Given the description of an element on the screen output the (x, y) to click on. 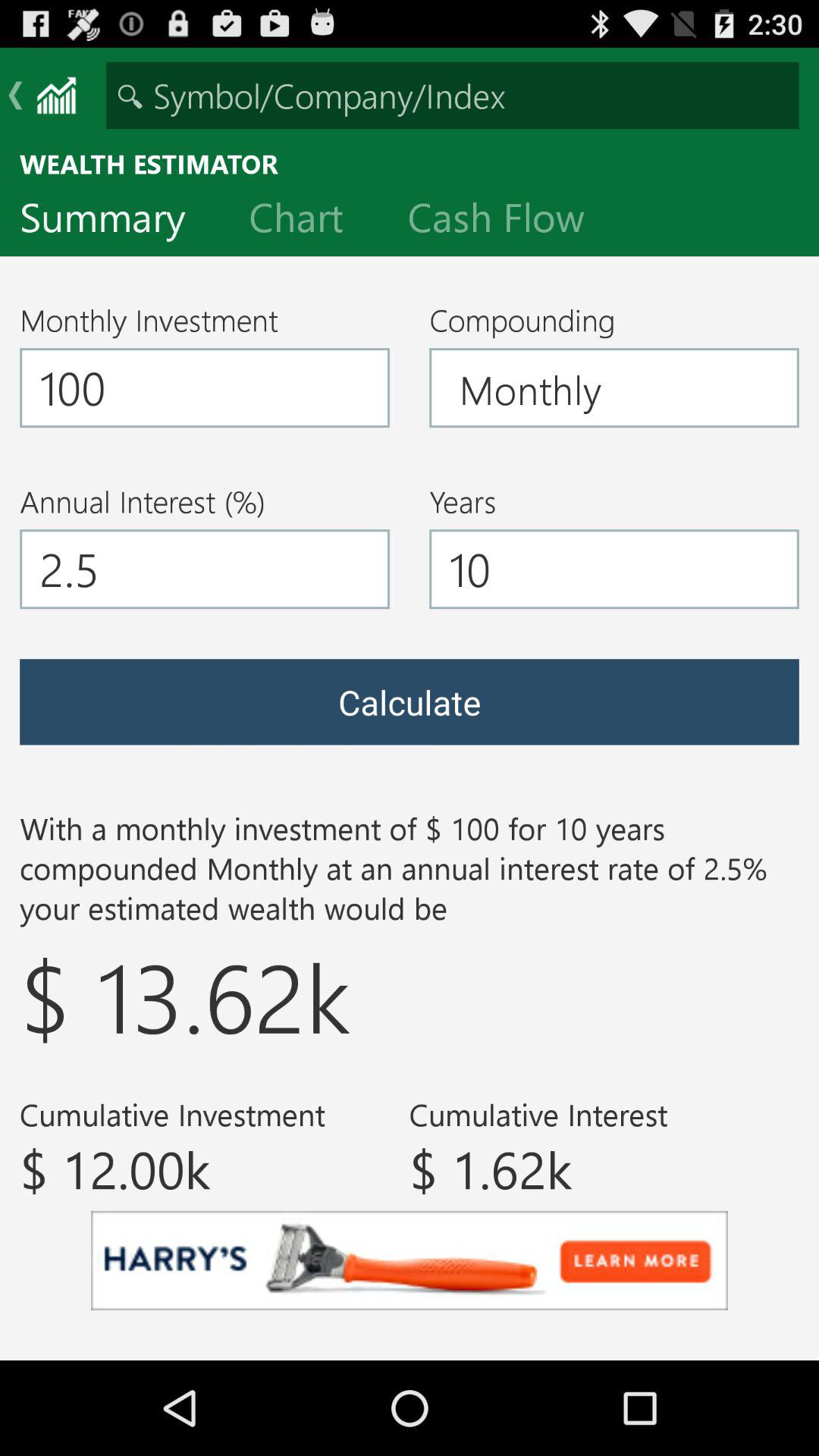
turn on the item next to summary item (308, 220)
